Given the description of an element on the screen output the (x, y) to click on. 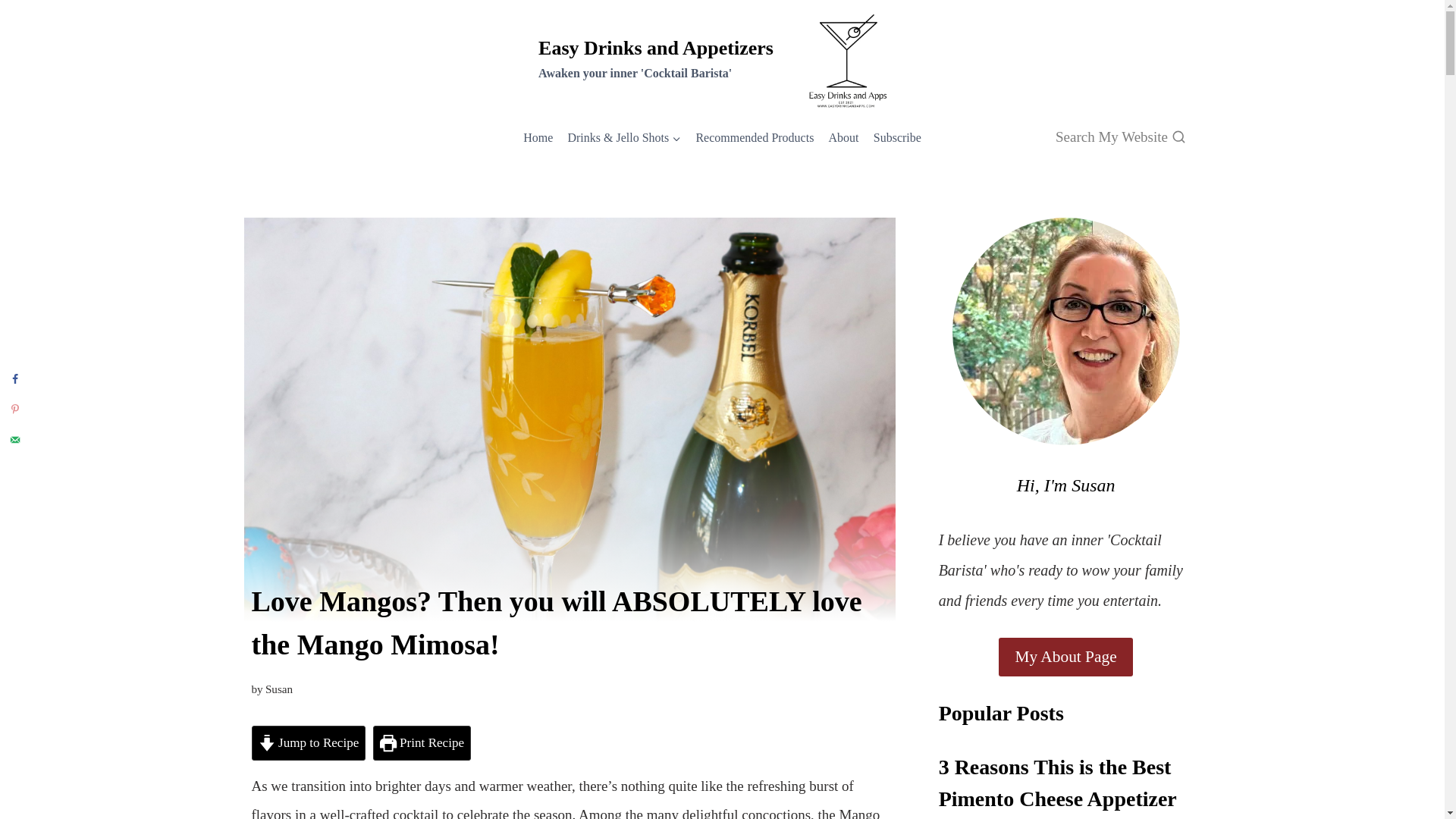
Jump to Recipe (308, 742)
Print Recipe (421, 742)
Susan (278, 688)
Home (538, 137)
Search My Website (1120, 137)
Subscribe (897, 137)
About (843, 137)
Recommended Products (754, 137)
